Given the description of an element on the screen output the (x, y) to click on. 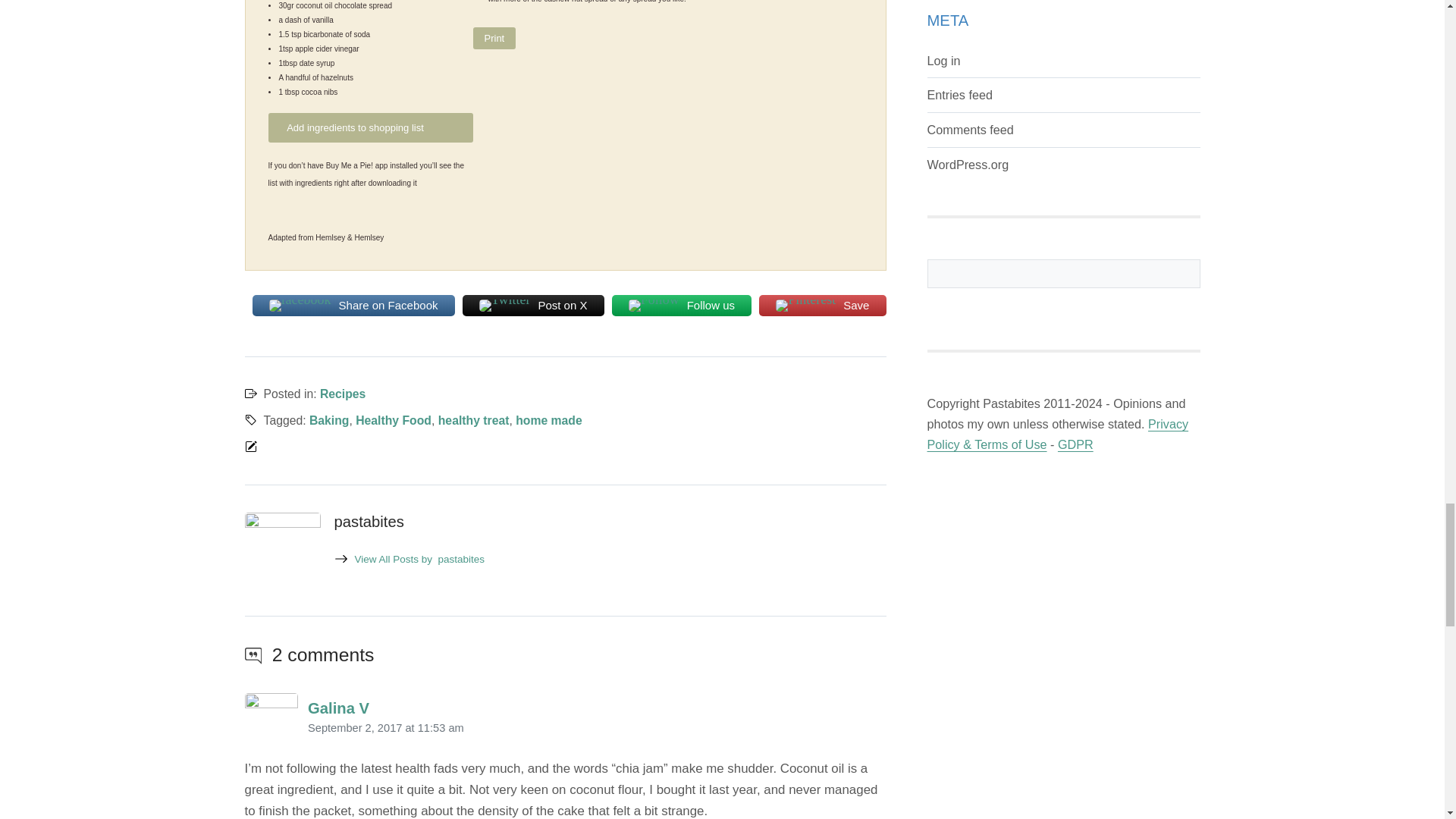
home made (548, 420)
View All Posts by  pastabites (419, 559)
Save (821, 305)
healthy treat (473, 420)
Recipes (342, 394)
Follow us (681, 305)
Share on Facebook (352, 305)
Galina V (338, 708)
Post on X (533, 305)
Baking (328, 420)
